Given the description of an element on the screen output the (x, y) to click on. 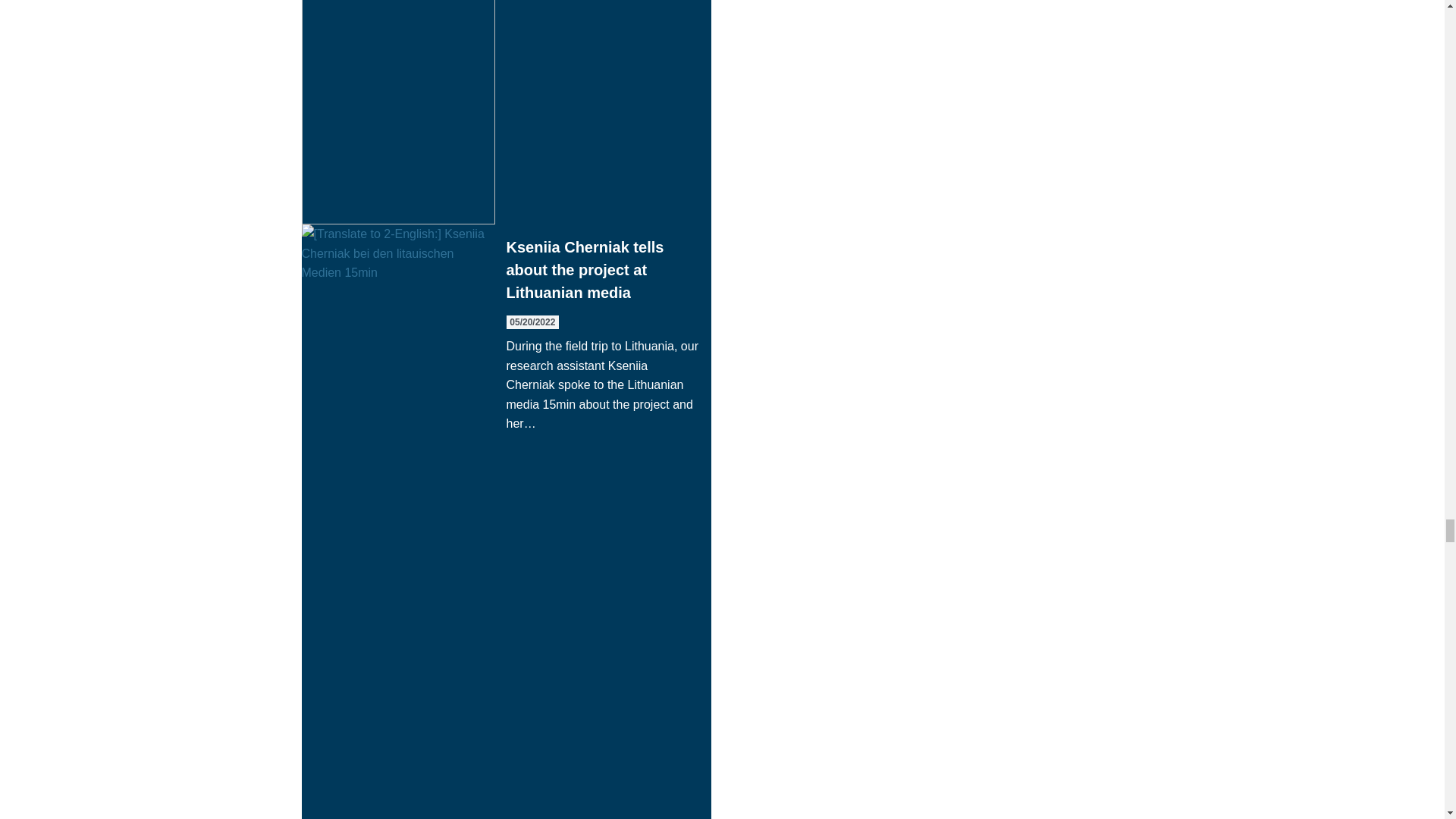
Yasir und Polina - Welcome to the team! (506, 112)
